Given the description of an element on the screen output the (x, y) to click on. 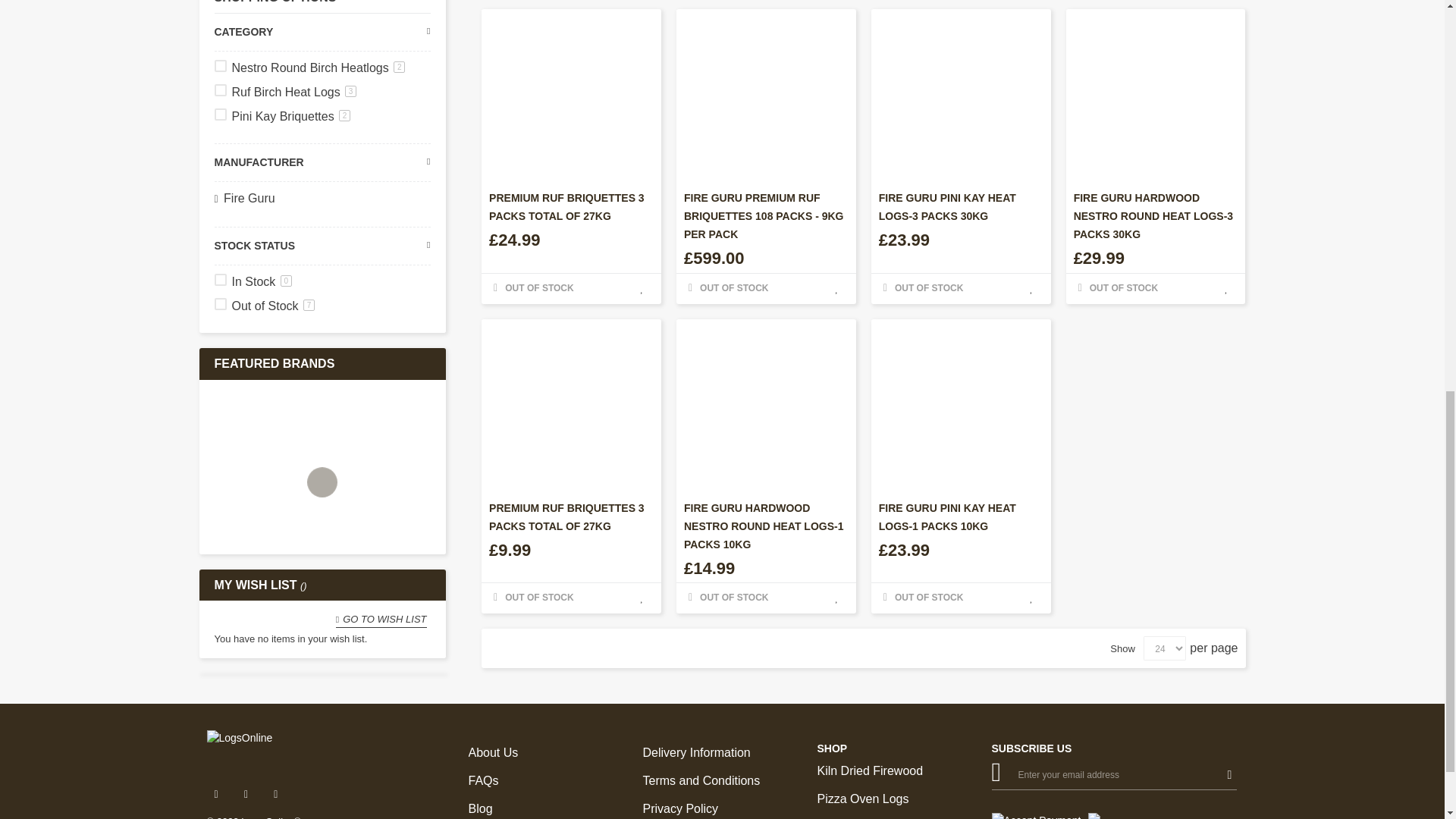
Add to Wish List (641, 598)
130 (219, 114)
Add to Wish List (1225, 288)
Add to Wish List (1031, 288)
Add to Wish List (836, 598)
Add to Wish List (836, 288)
128 (219, 90)
127 (219, 65)
Add to Wish List (641, 288)
Add to Wish List (1031, 598)
